Given the description of an element on the screen output the (x, y) to click on. 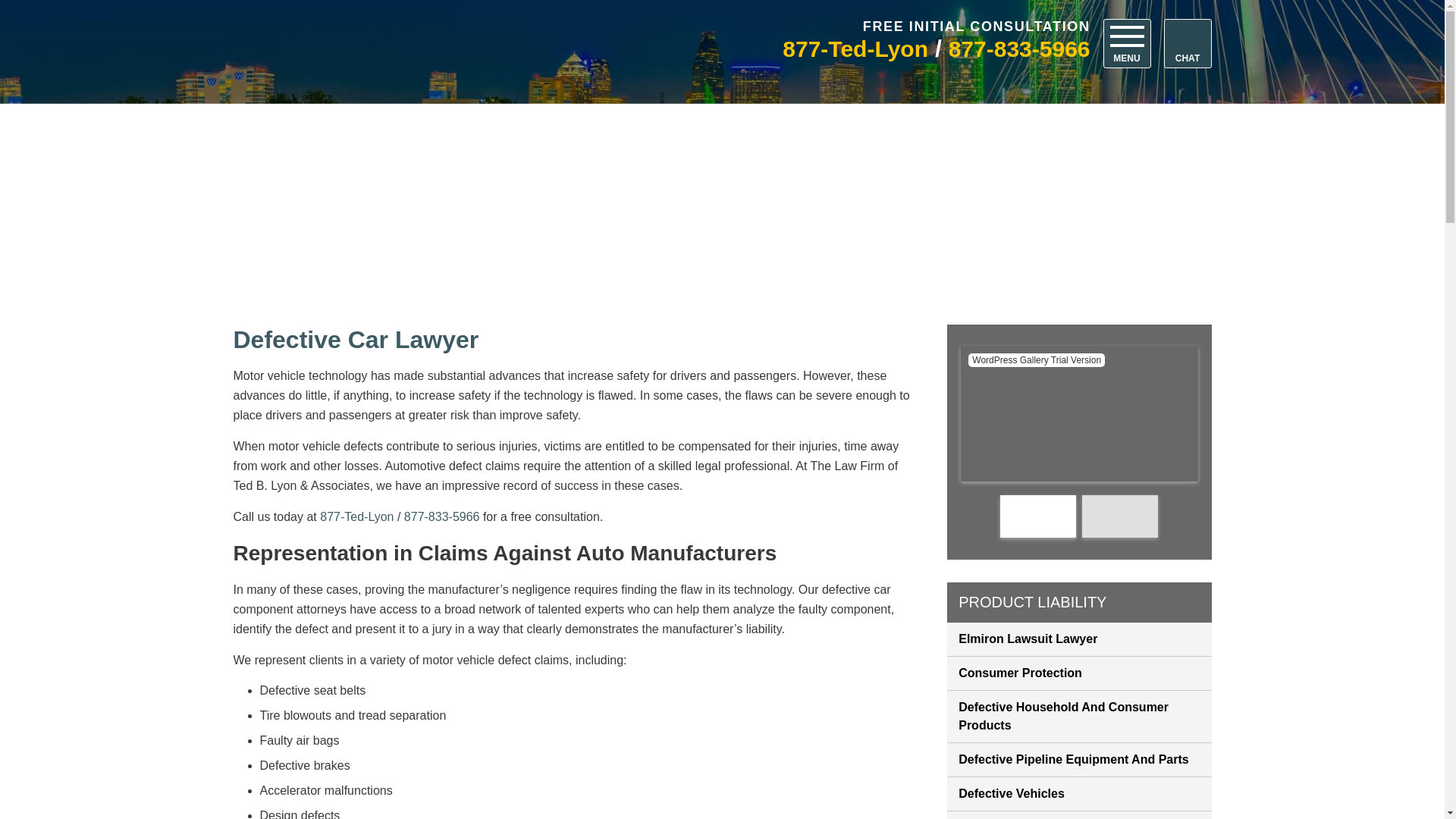
877-833-5966 (1019, 48)
MENU (1126, 42)
877-Ted-Lyon (855, 48)
